Given the description of an element on the screen output the (x, y) to click on. 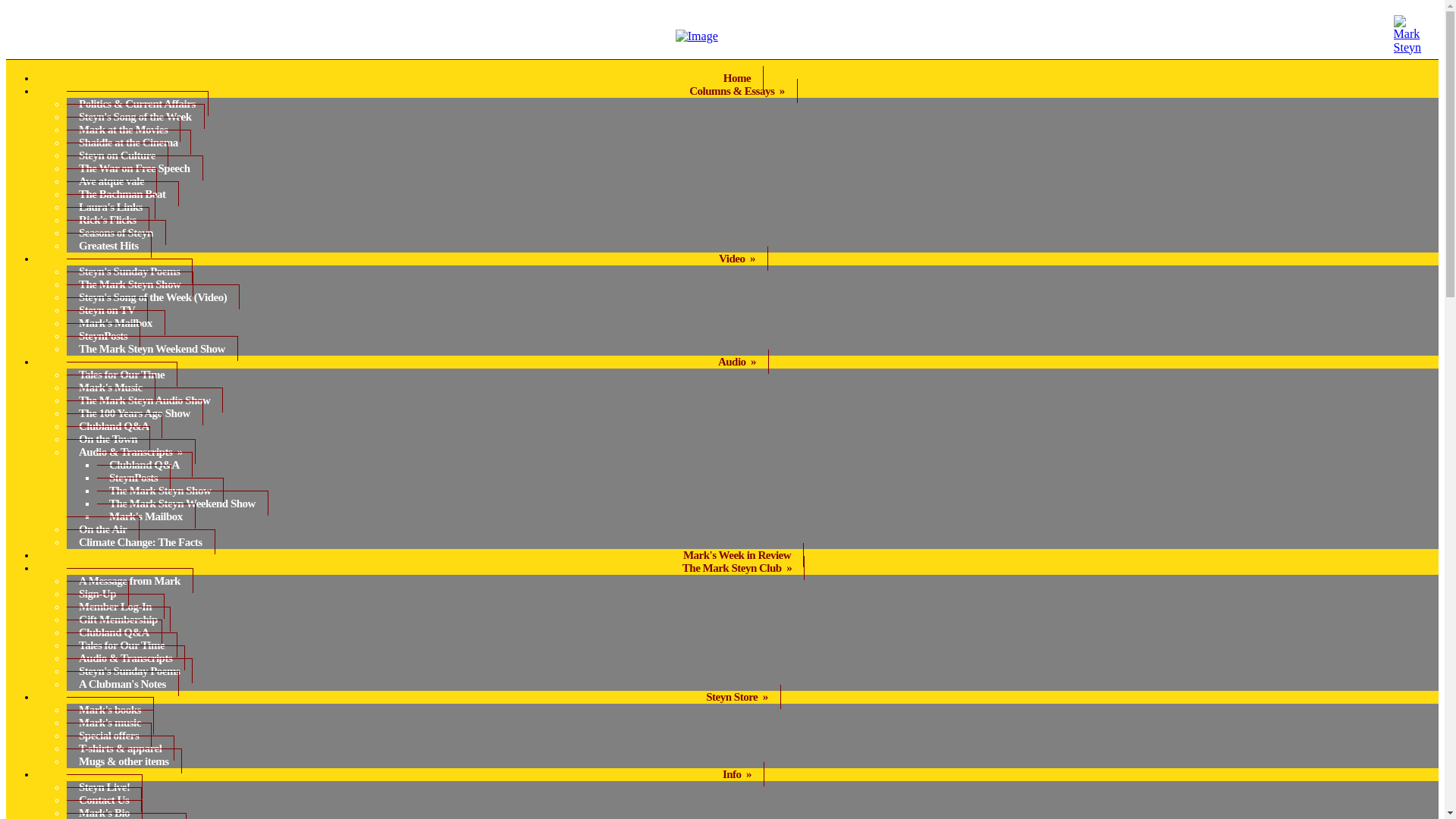
Mark's Mailbox (146, 515)
Mark's Mailbox (115, 322)
Ave atque vale (111, 180)
Tales for Our Time (121, 373)
Mark's Music (110, 386)
SteynPosts (133, 477)
Mark at the Movies (123, 129)
The 100 Years Ago Show (134, 412)
Steyn's Song of the Week (135, 116)
Steyn's Sunday Poems (129, 270)
